Given the description of an element on the screen output the (x, y) to click on. 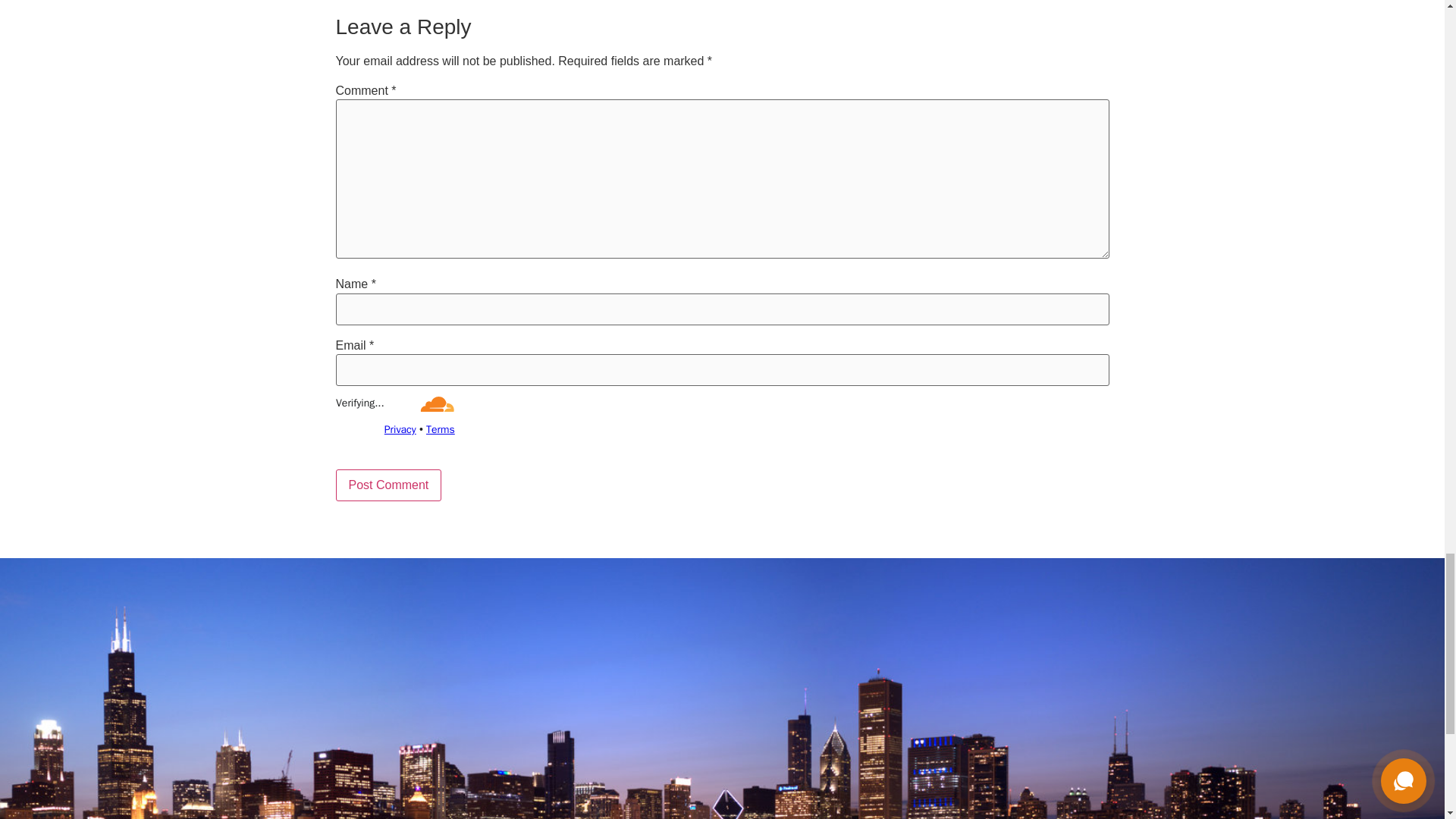
Post Comment (387, 485)
Post Comment (387, 485)
